Given the description of an element on the screen output the (x, y) to click on. 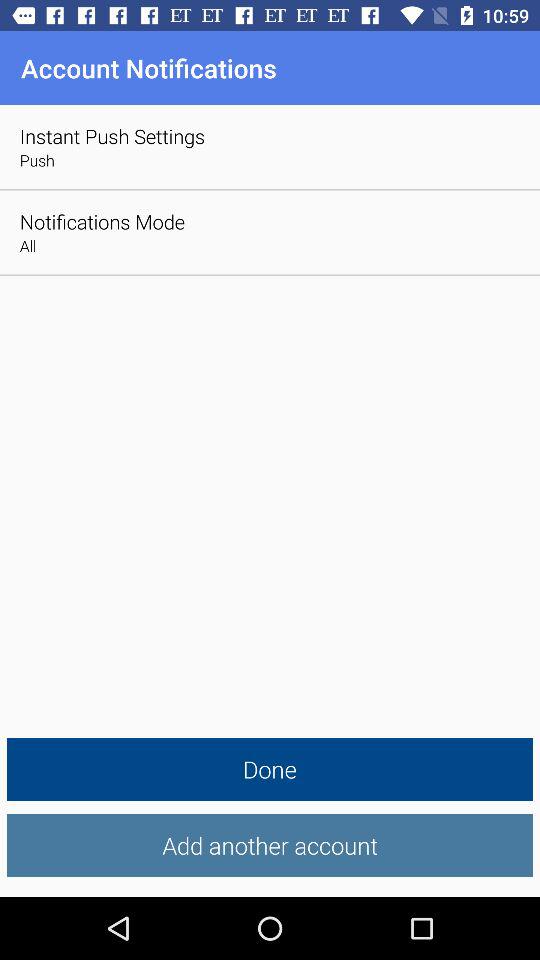
scroll until add another account button (269, 845)
